Given the description of an element on the screen output the (x, y) to click on. 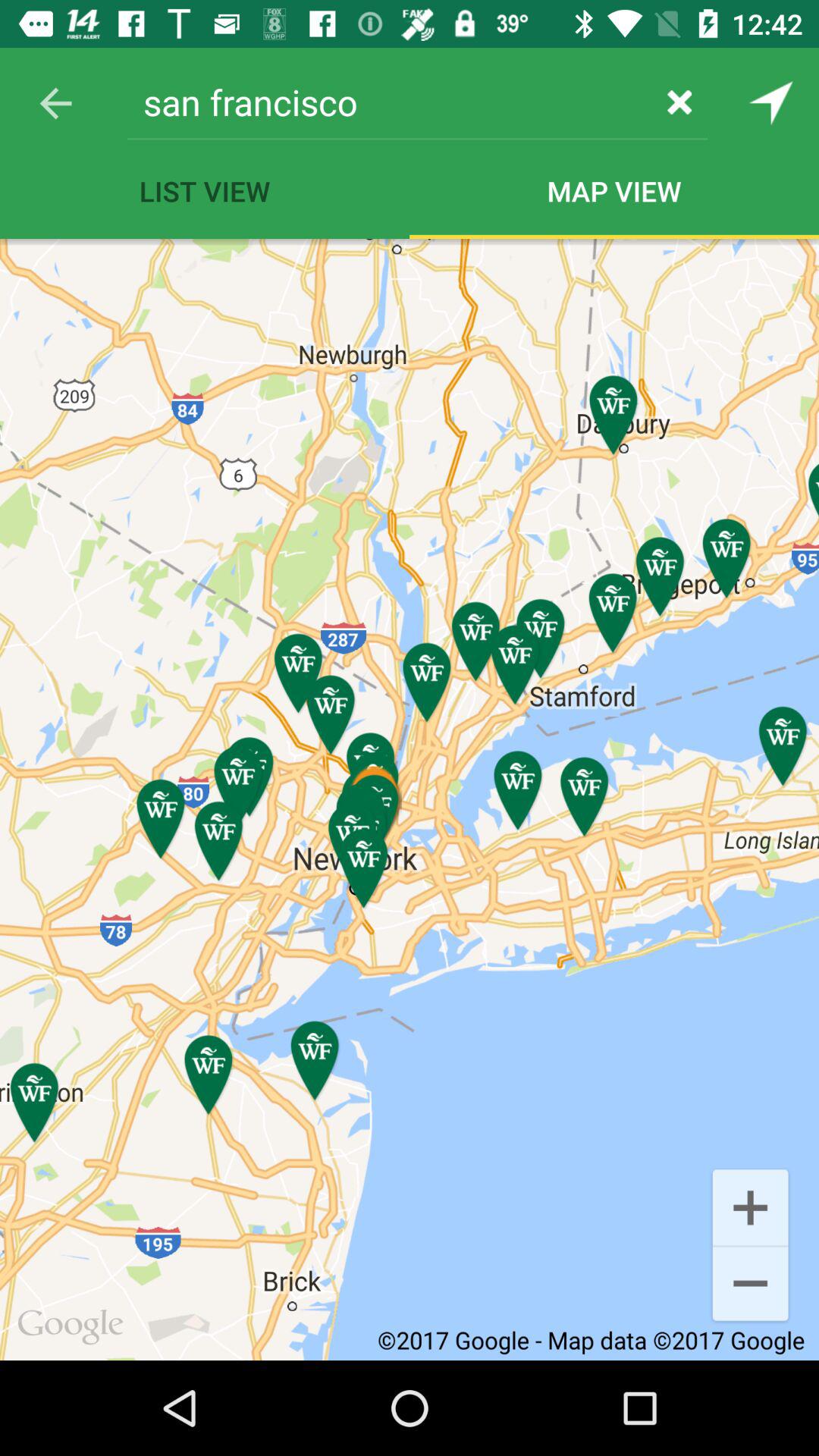
turn on the san francisco icon (389, 102)
